Given the description of an element on the screen output the (x, y) to click on. 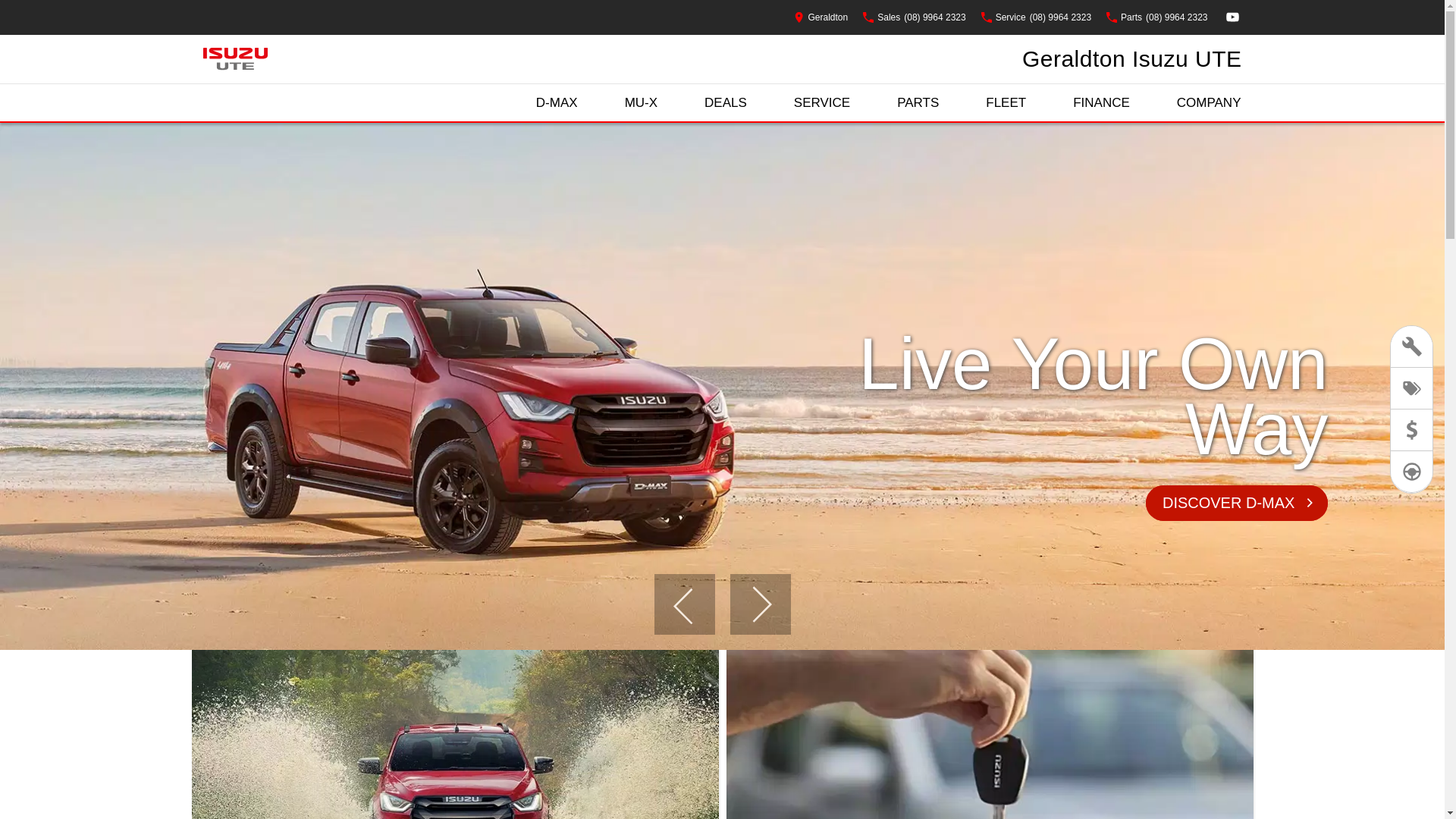
FINANCE Element type: text (1101, 102)
Geraldton Element type: text (820, 16)
Service
(08) 9964 2323 Element type: text (1036, 16)
Previous Element type: text (683, 604)
Isuzu UTE Service Plus
Our Commitment to You
FIND OUT MORE Element type: text (722, 385)
PARTS Element type: text (917, 102)
DEALS Element type: text (725, 102)
COMPANY Element type: text (1208, 102)
Geraldton Isuzu UTE Element type: text (1132, 59)
MU-X Element type: text (640, 102)
SERVICE Element type: text (821, 102)
D-MAX Element type: text (556, 102)
Parts
(08) 9964 2323 Element type: text (1156, 16)
Next Element type: text (759, 604)
FLEET Element type: text (1005, 102)
Sales
(08) 9964 2323 Element type: text (913, 16)
